Given the description of an element on the screen output the (x, y) to click on. 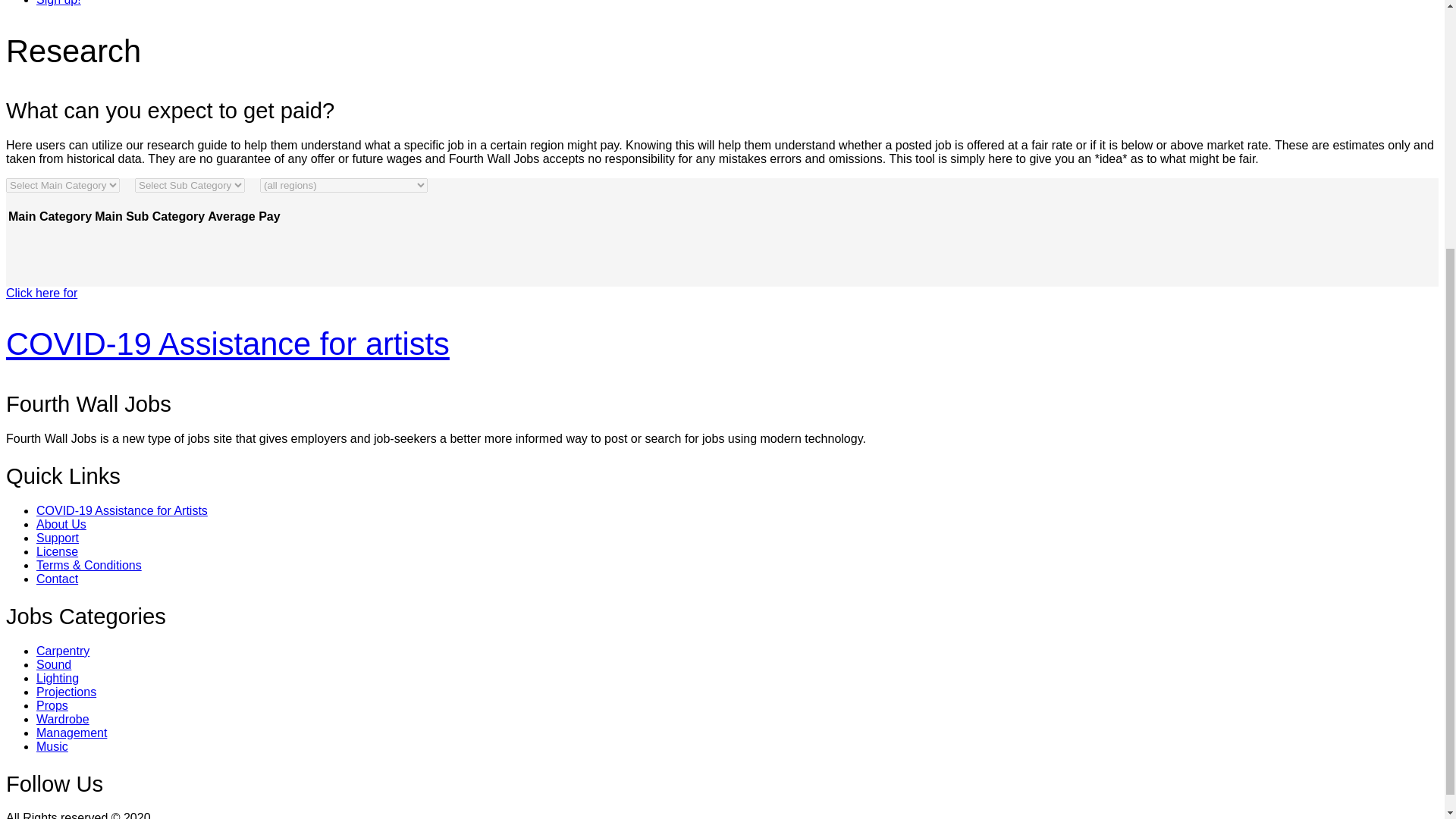
Lighting (57, 677)
Carpentry (62, 650)
Support (57, 537)
License (57, 551)
About Us (60, 523)
Contact (57, 578)
Props (52, 705)
Management (71, 732)
Projections (66, 691)
Sign up! (58, 2)
Sound (53, 664)
COVID-19 Assistance for Artists (122, 510)
Wardrobe (62, 718)
Music (52, 746)
